Given the description of an element on the screen output the (x, y) to click on. 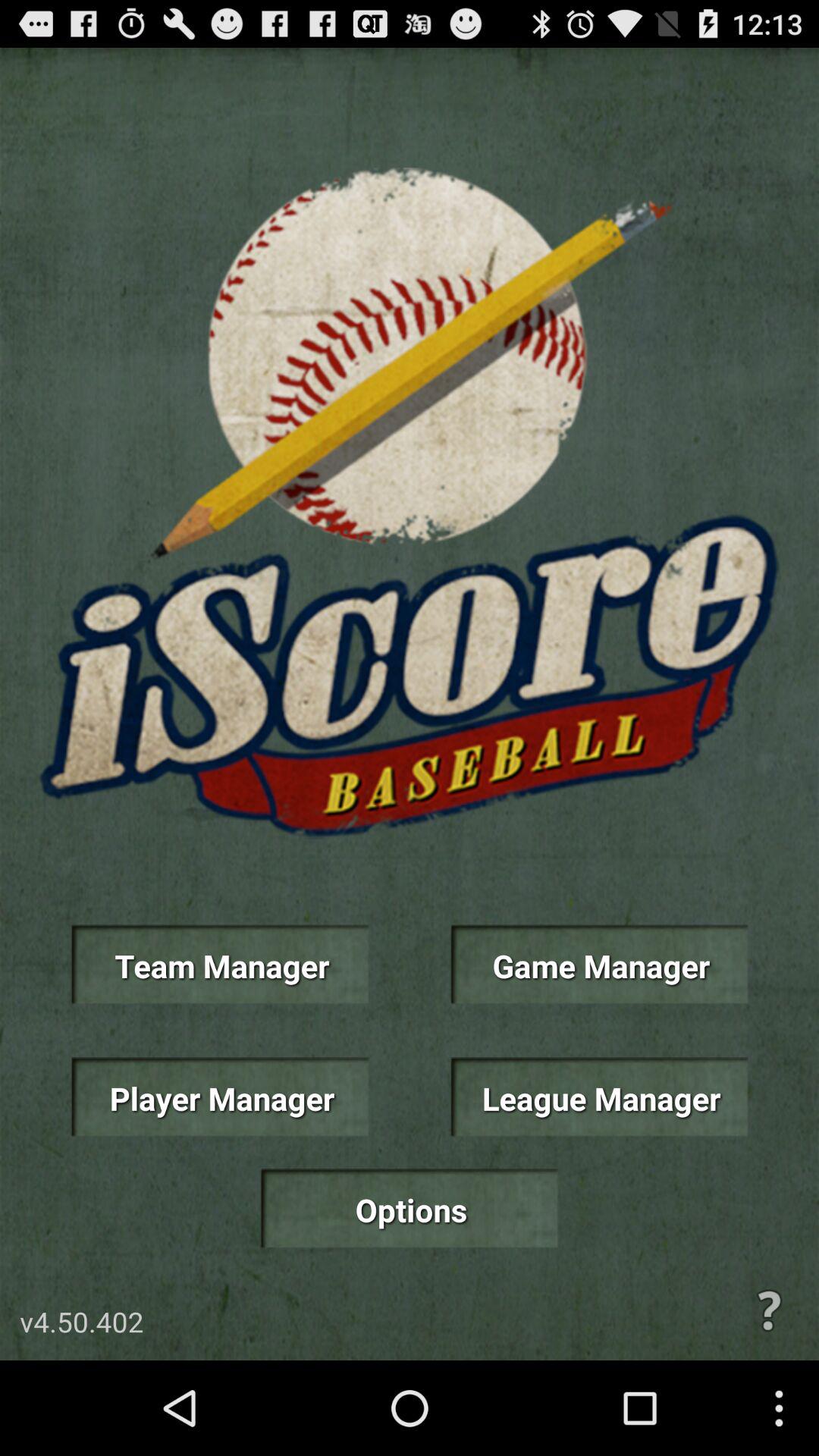
tap the item above the league manager icon (598, 964)
